Given the description of an element on the screen output the (x, y) to click on. 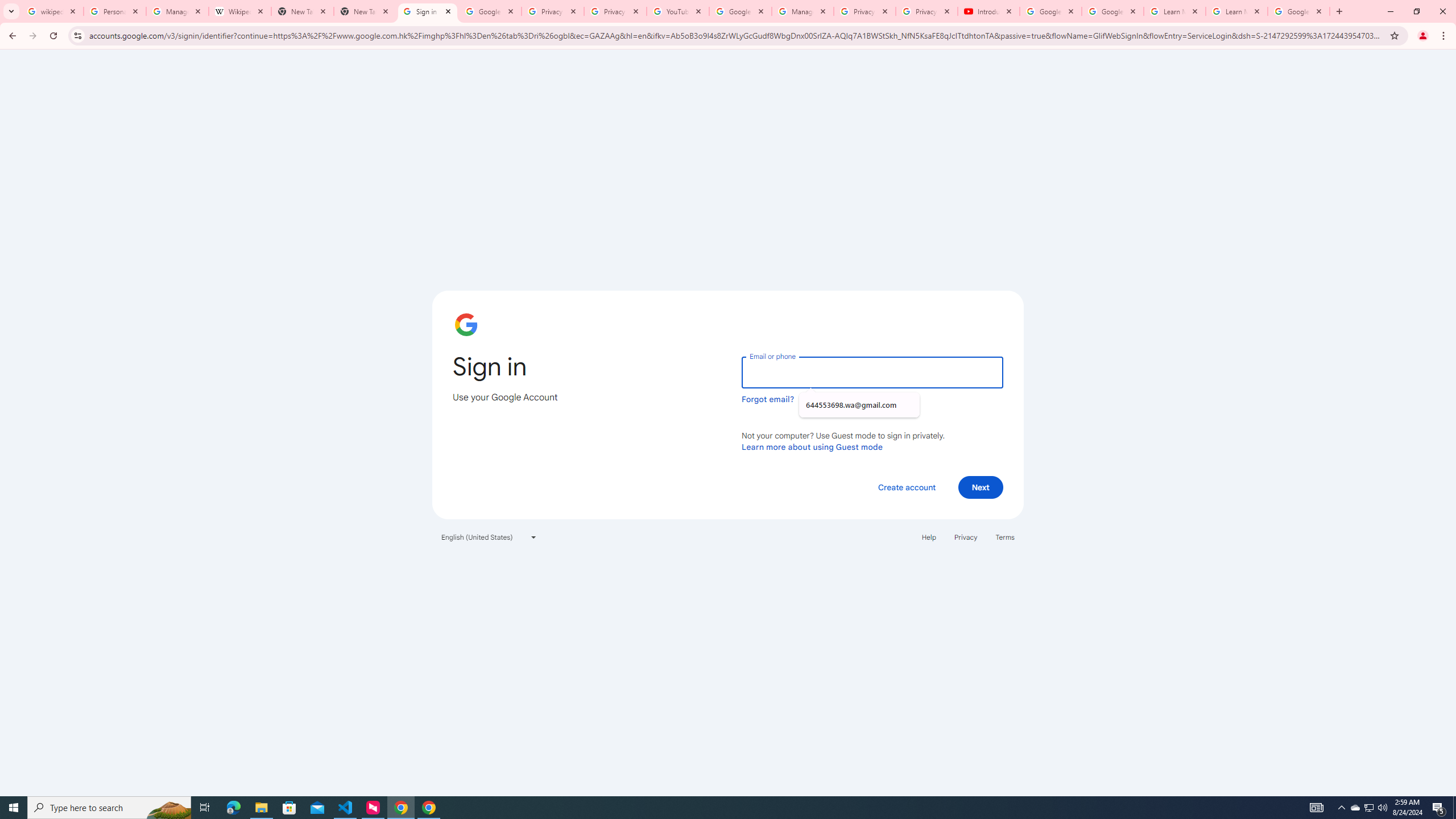
Google Account Help (740, 11)
Wikipedia:Edit requests - Wikipedia (239, 11)
Create account (905, 486)
Email or phone (871, 372)
English (United States) (489, 536)
Introduction | Google Privacy Policy - YouTube (988, 11)
